Given the description of an element on the screen output the (x, y) to click on. 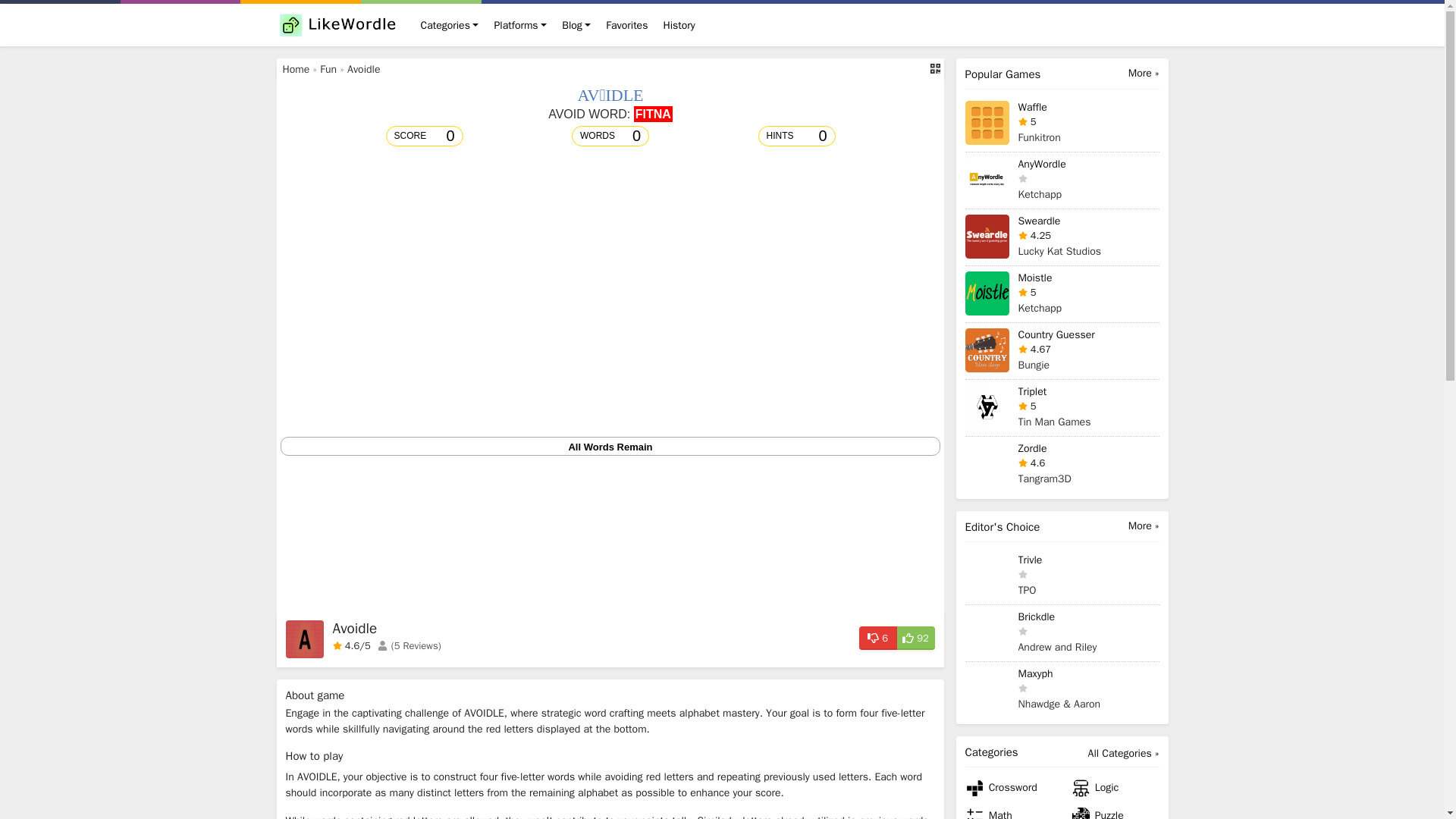
History (678, 24)
92 (915, 637)
Categories (448, 24)
Blog (576, 24)
Home (295, 69)
Avoidle (363, 69)
Fun (328, 69)
6 (877, 637)
Platforms (520, 24)
Favorites (626, 24)
